Given the description of an element on the screen output the (x, y) to click on. 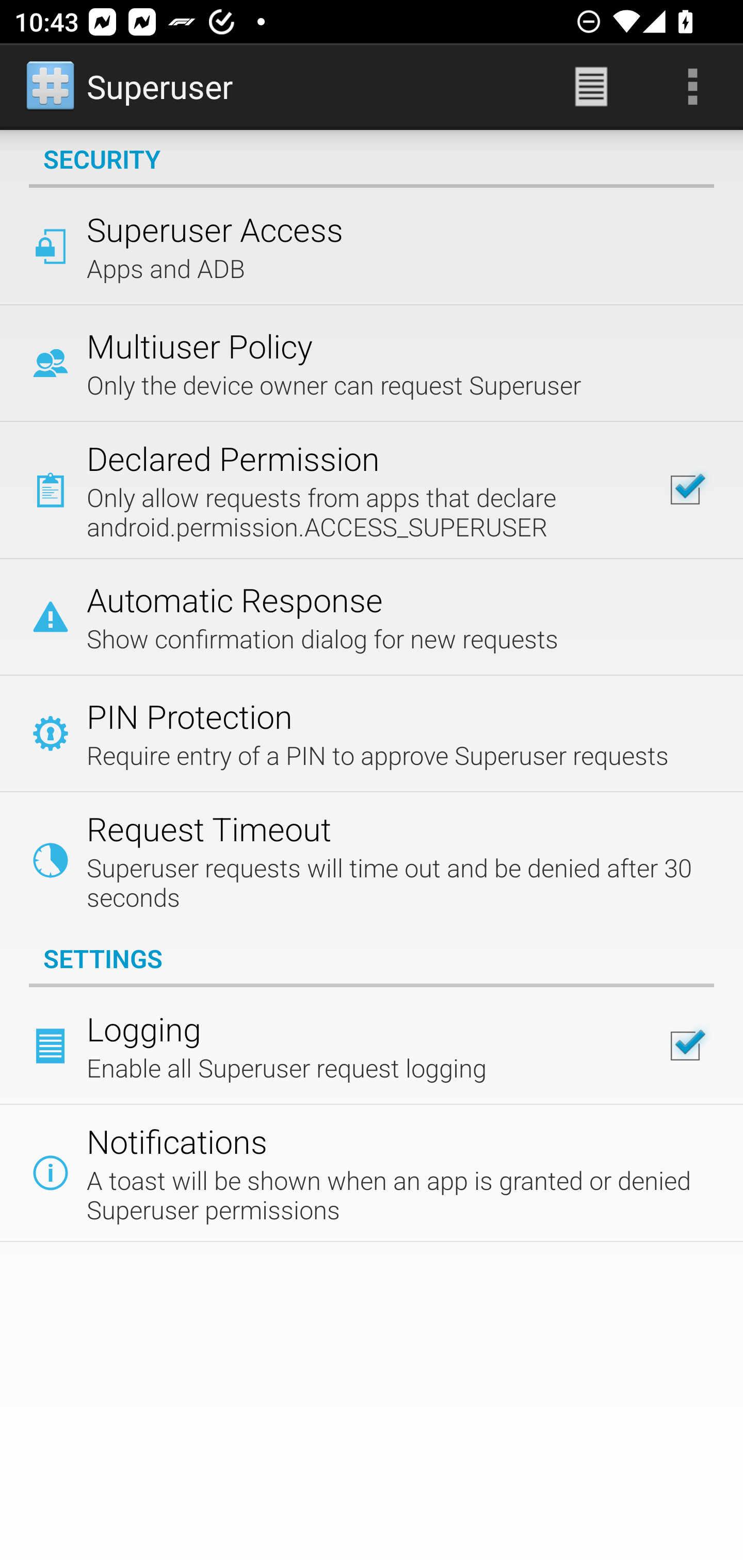
Superuser (130, 86)
Logs (590, 86)
More options (692, 86)
Superuser Access Apps and ADB (371, 246)
Logging Enable all Superuser request logging (371, 1045)
